Given the description of an element on the screen output the (x, y) to click on. 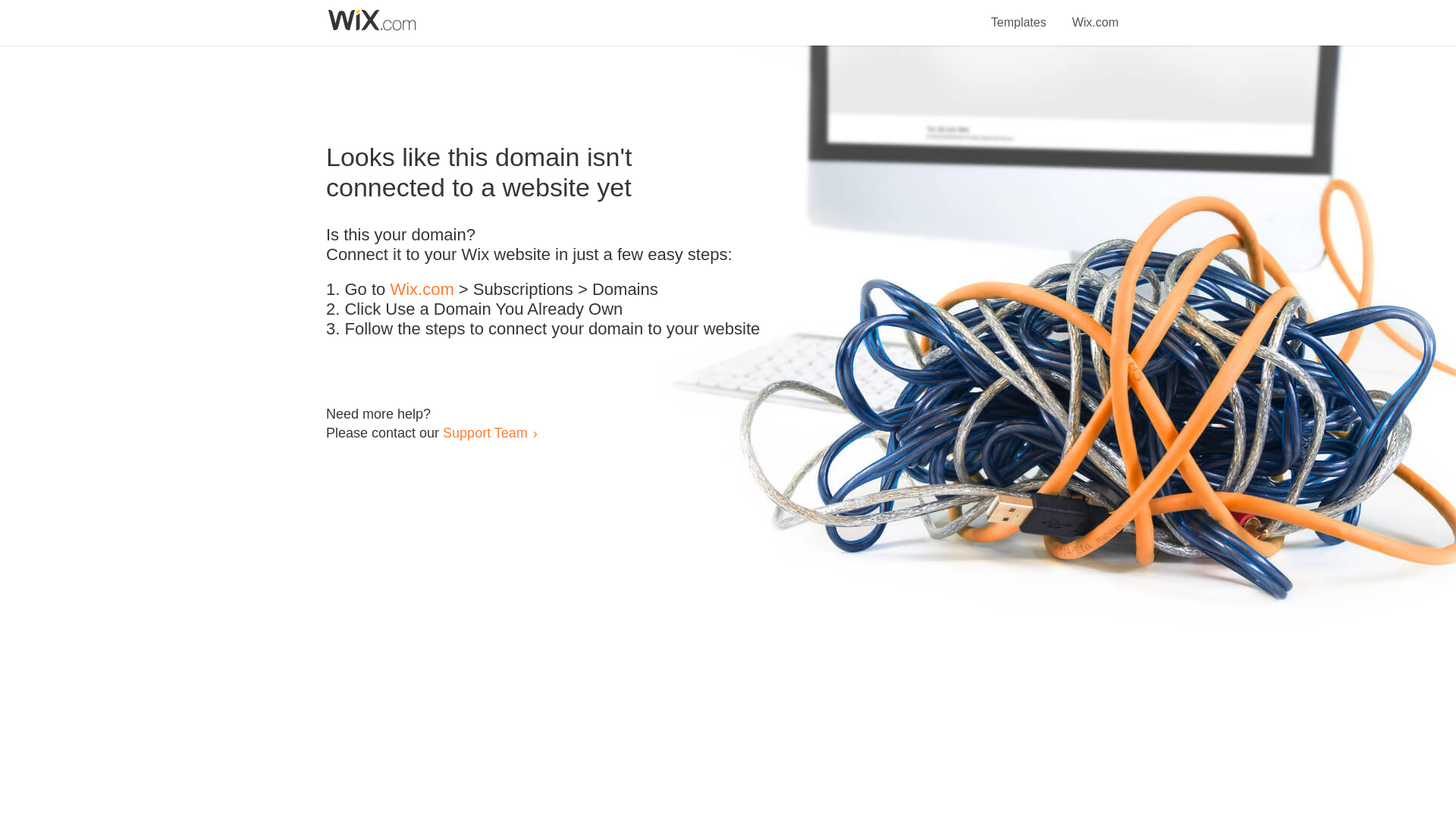
Wix.com (1095, 14)
Support Team (484, 432)
Wix.com (421, 289)
Templates (1018, 14)
